Given the description of an element on the screen output the (x, y) to click on. 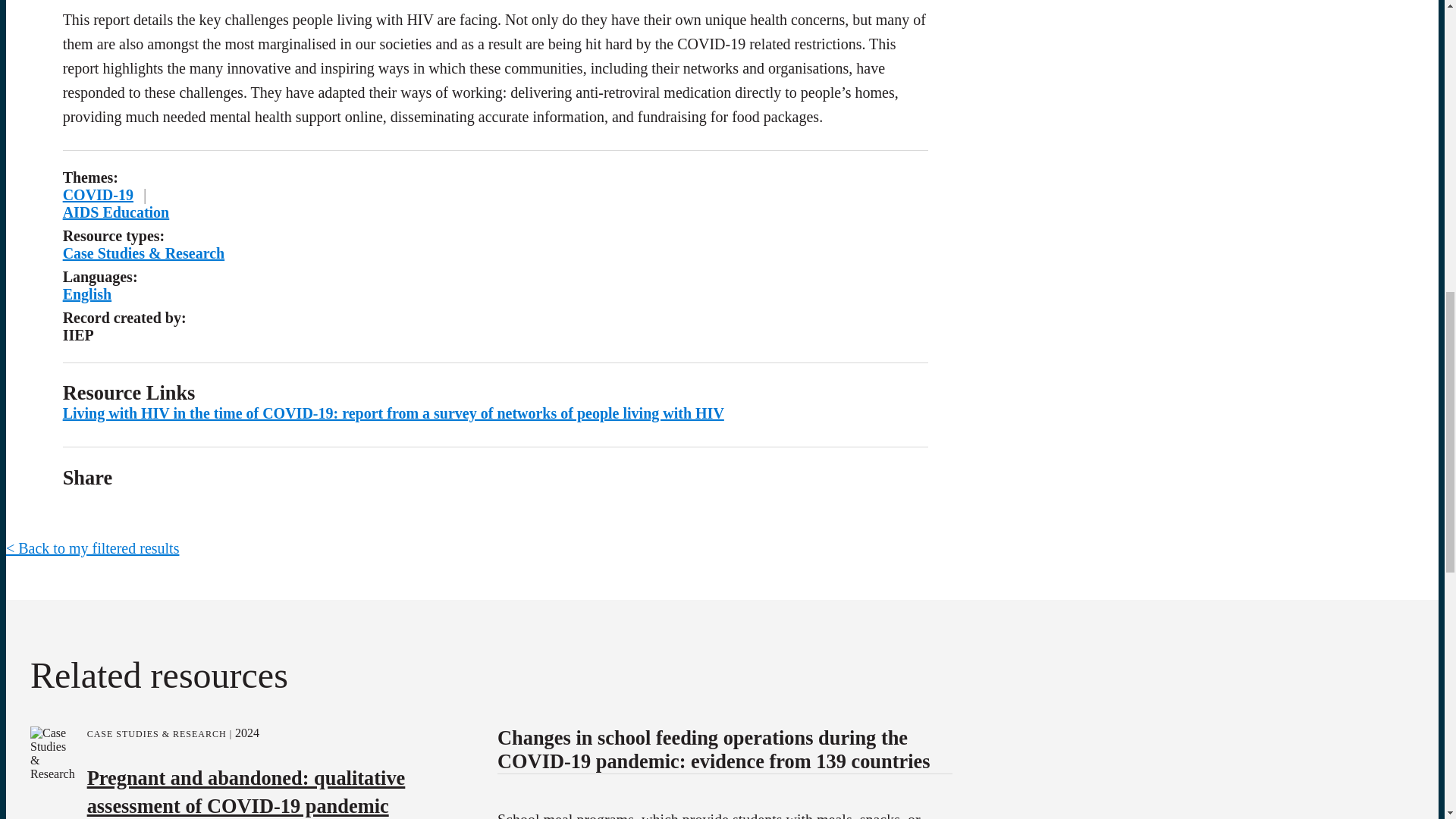
English (87, 293)
COVID-19 (97, 194)
AIDS Education (116, 211)
